Given the description of an element on the screen output the (x, y) to click on. 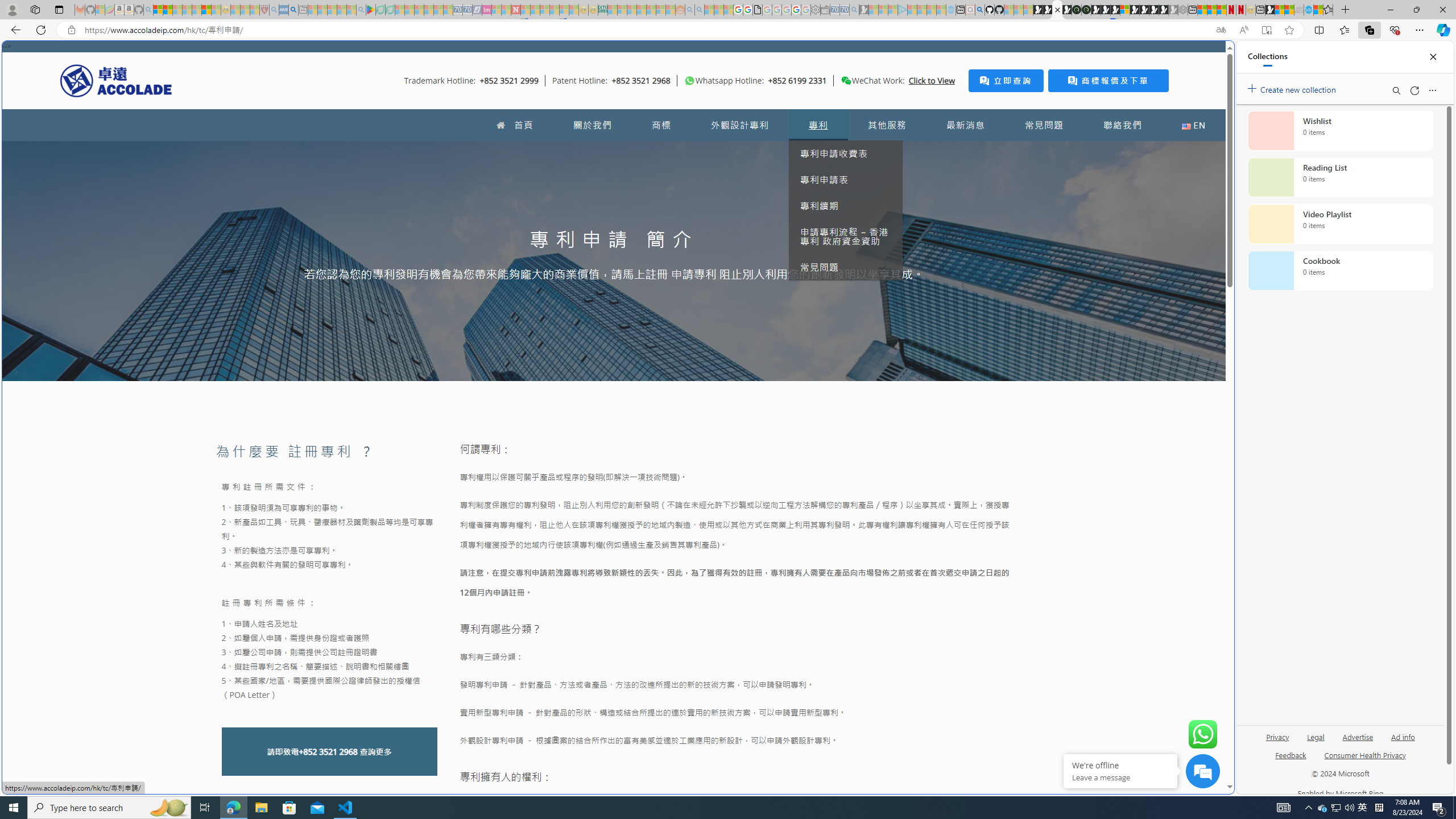
Future Focus Report 2024 (1085, 9)
Earth has six continents not seven, radical new study claims (1288, 9)
